Given the description of an element on the screen output the (x, y) to click on. 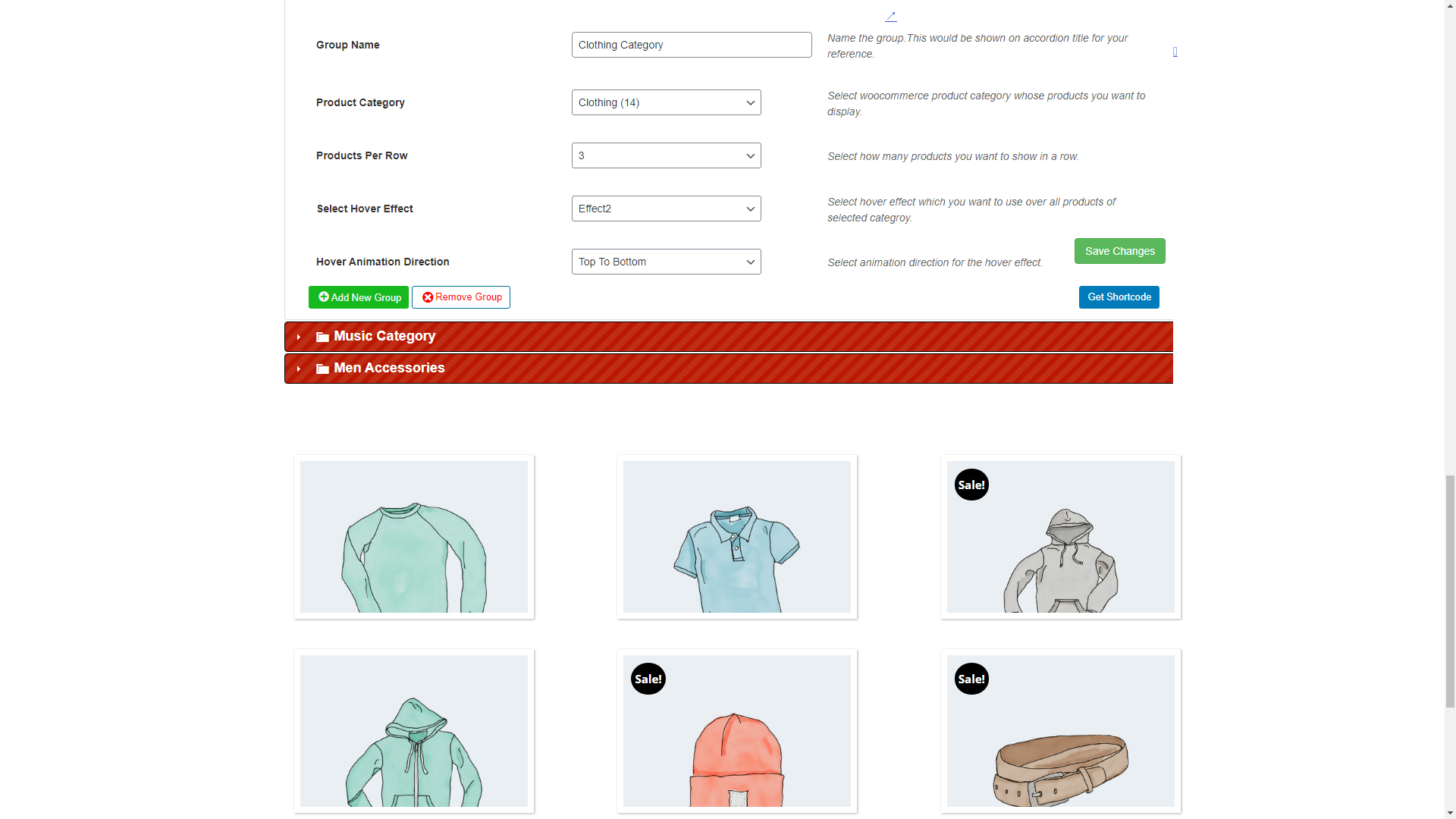
WordPress.org (864, 47)
WordPress.org (1014, 47)
